Given the description of an element on the screen output the (x, y) to click on. 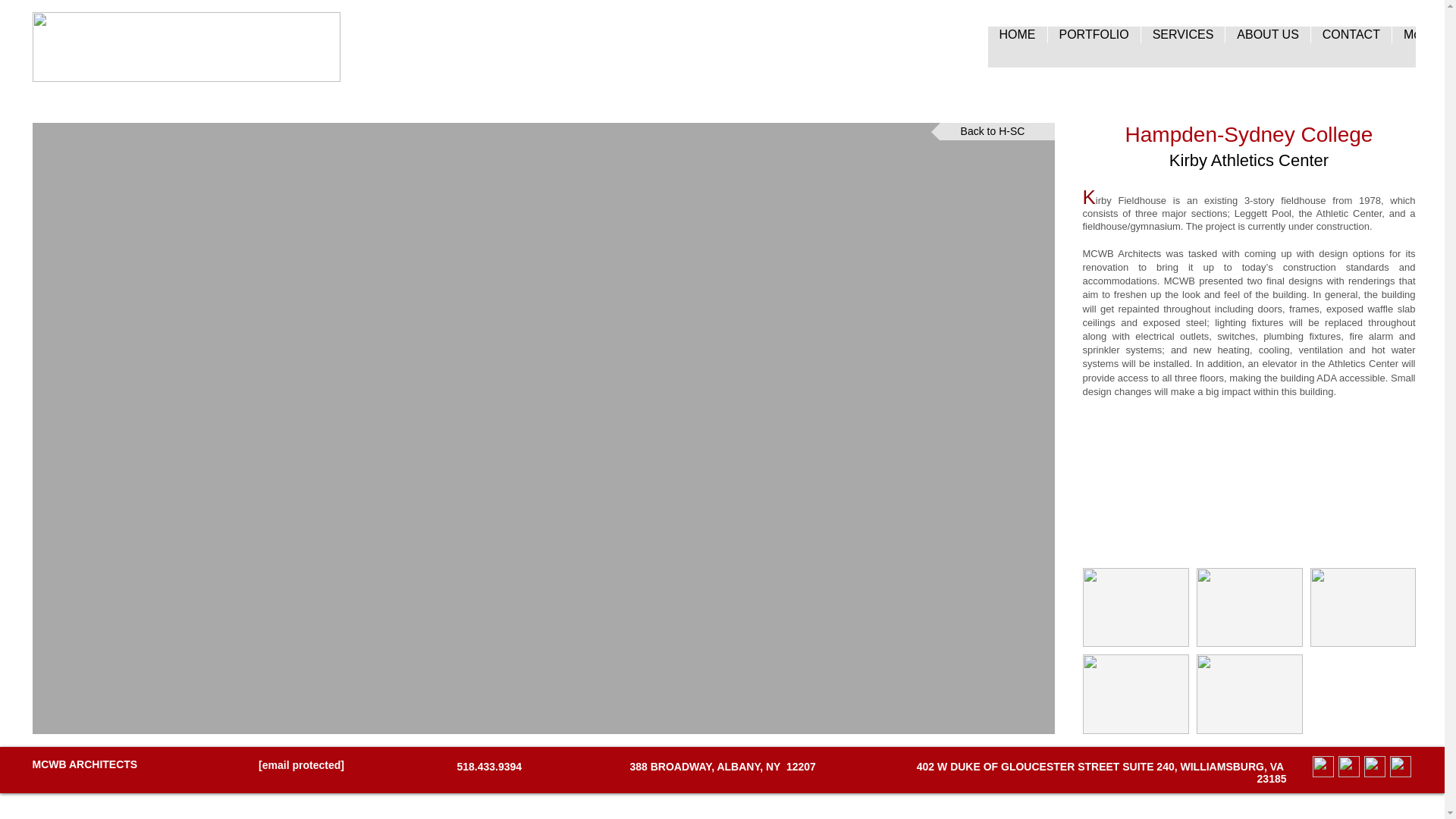
PORTFOLIO (1093, 46)
HOME (1016, 46)
ABOUT US (1267, 46)
CONTACT (1350, 46)
Back to H-SC (992, 131)
SERVICES (1182, 46)
